Given the description of an element on the screen output the (x, y) to click on. 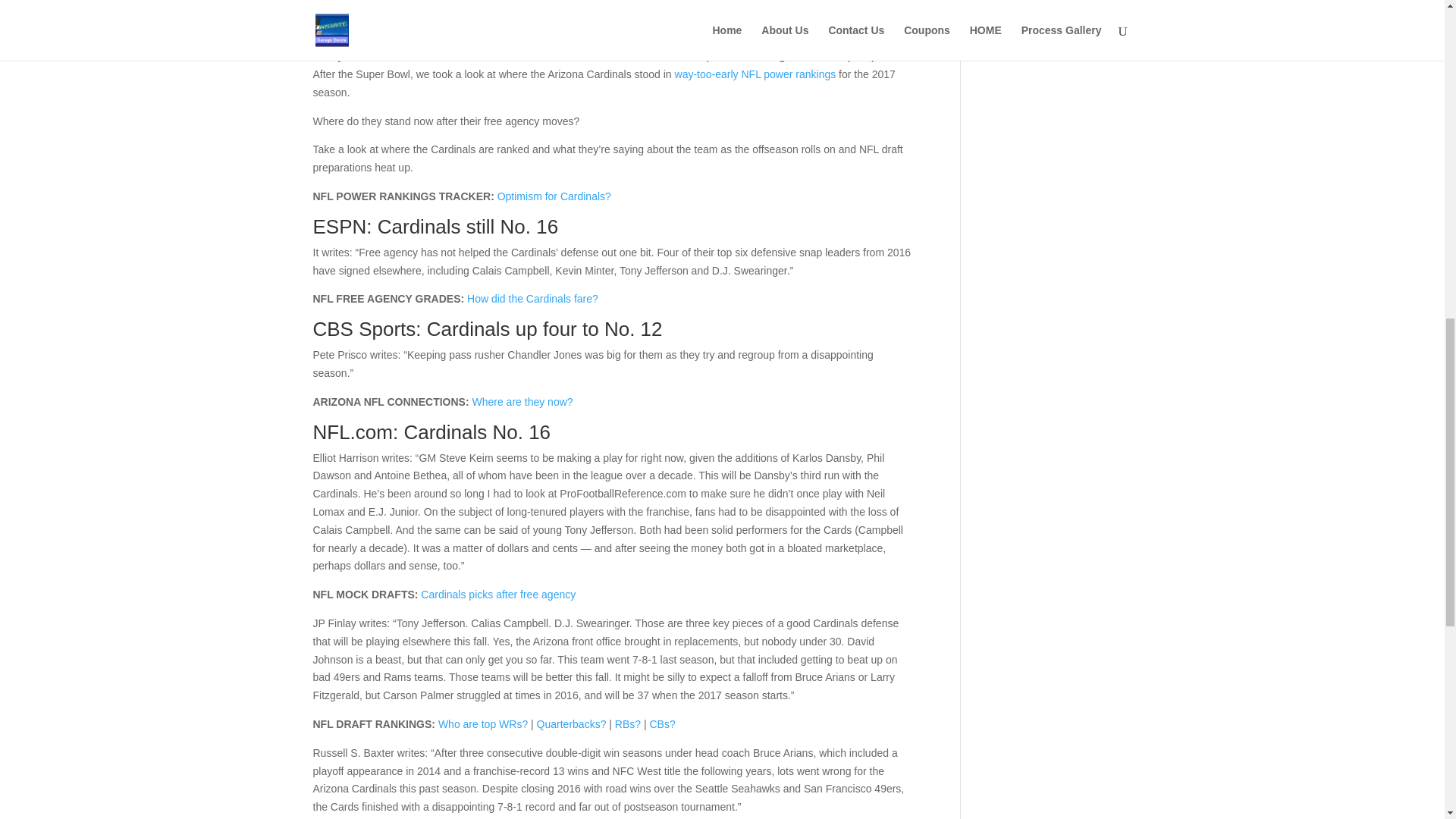
Quarterbacks? (572, 724)
RBs? (627, 724)
way-too-early NFL power rankings (755, 73)
CBs? (662, 724)
NFL.com (352, 431)
Who are top WRs? (482, 724)
Cardinals picks after free agency (497, 594)
ESPN (339, 226)
Optimism for Cardinals? (554, 196)
How did the Cardinals fare? (532, 298)
